Given the description of an element on the screen output the (x, y) to click on. 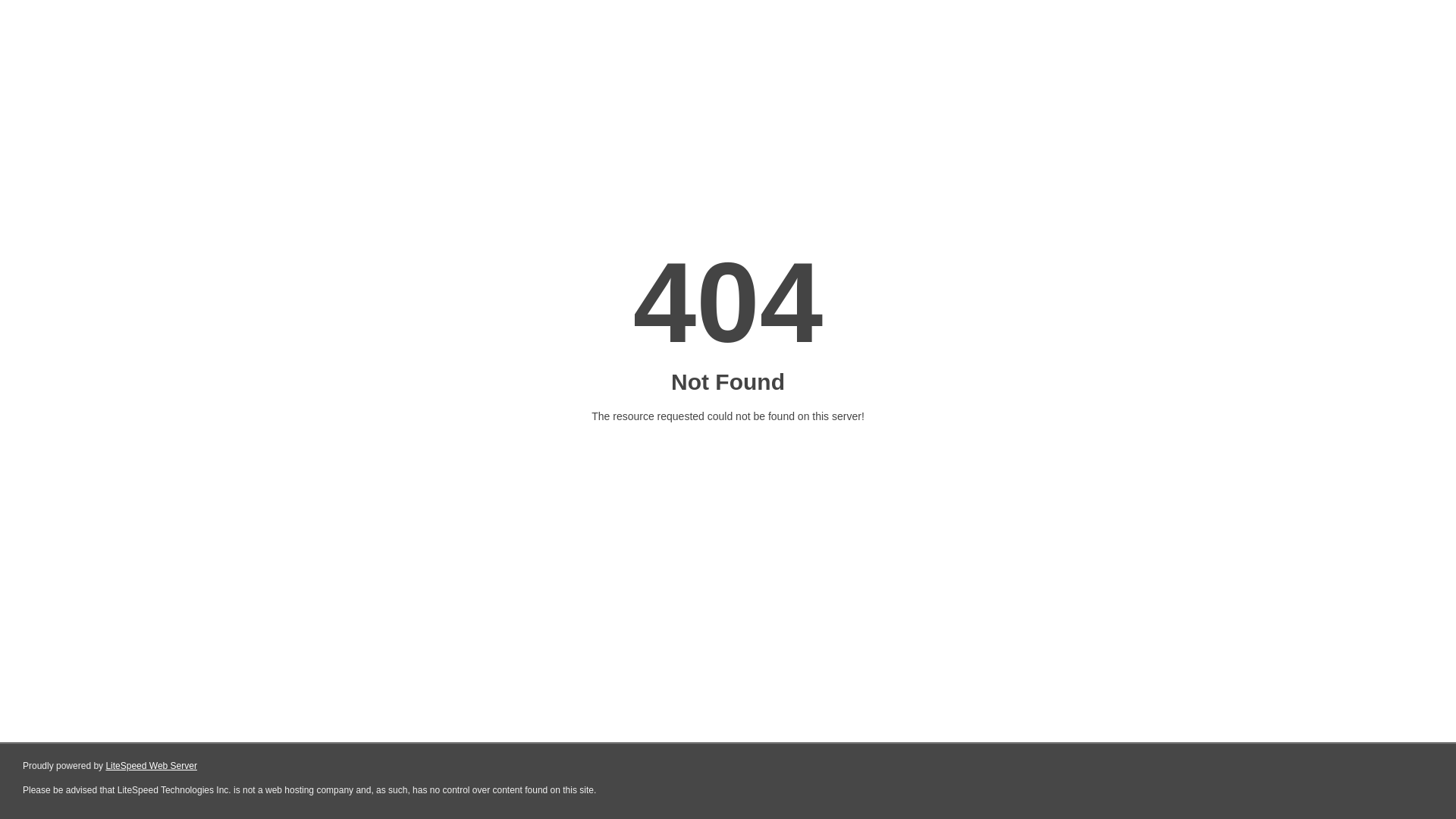
LiteSpeed Web Server Element type: text (151, 765)
